Given the description of an element on the screen output the (x, y) to click on. 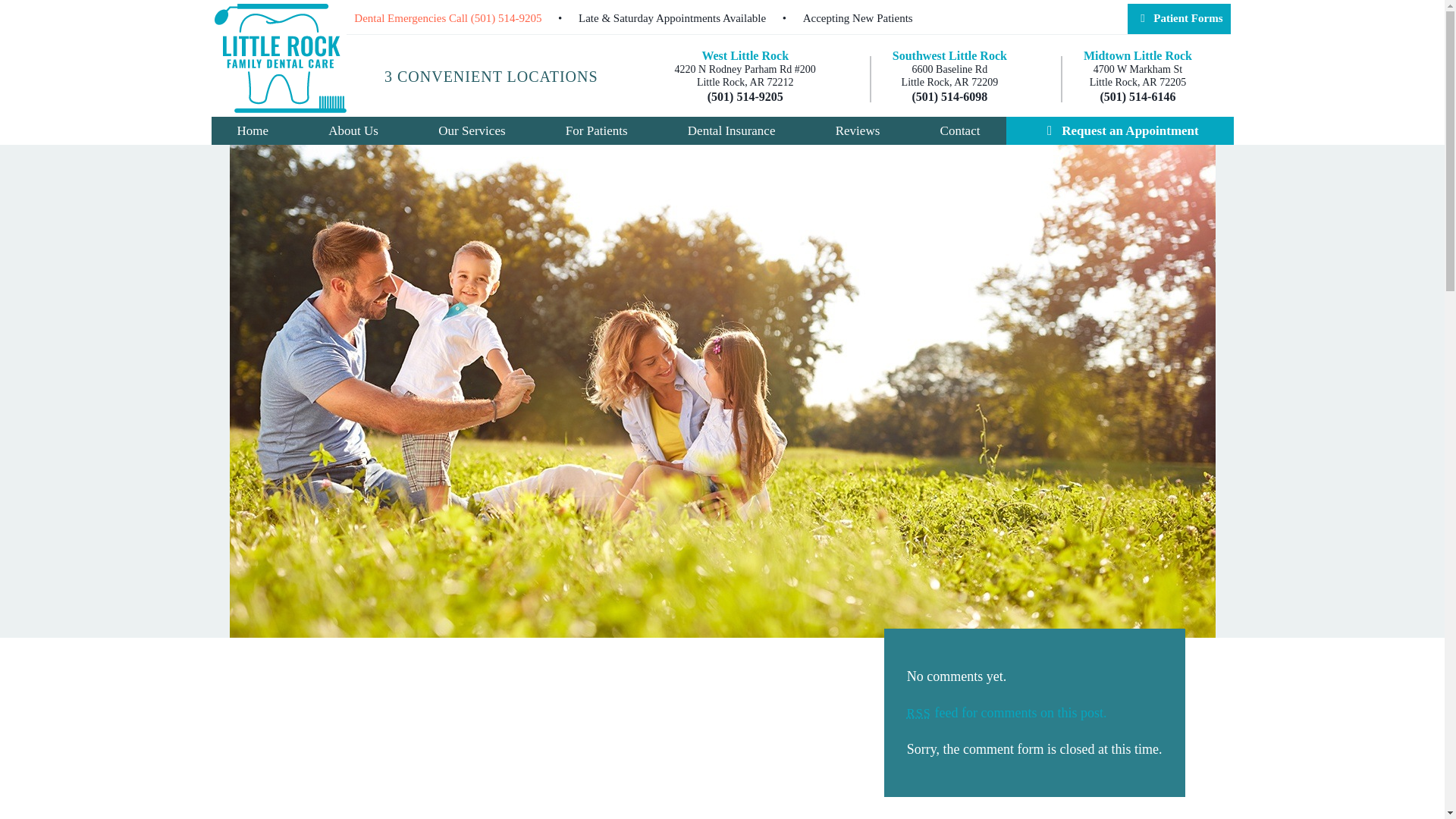
About Us (1137, 76)
Home (352, 130)
West Little Rock (252, 130)
Our Services (745, 55)
Southwest Little Rock (471, 130)
Accepting New Patients (949, 55)
Midtown Little Rock (857, 18)
Patient Forms (1137, 55)
